Given the description of an element on the screen output the (x, y) to click on. 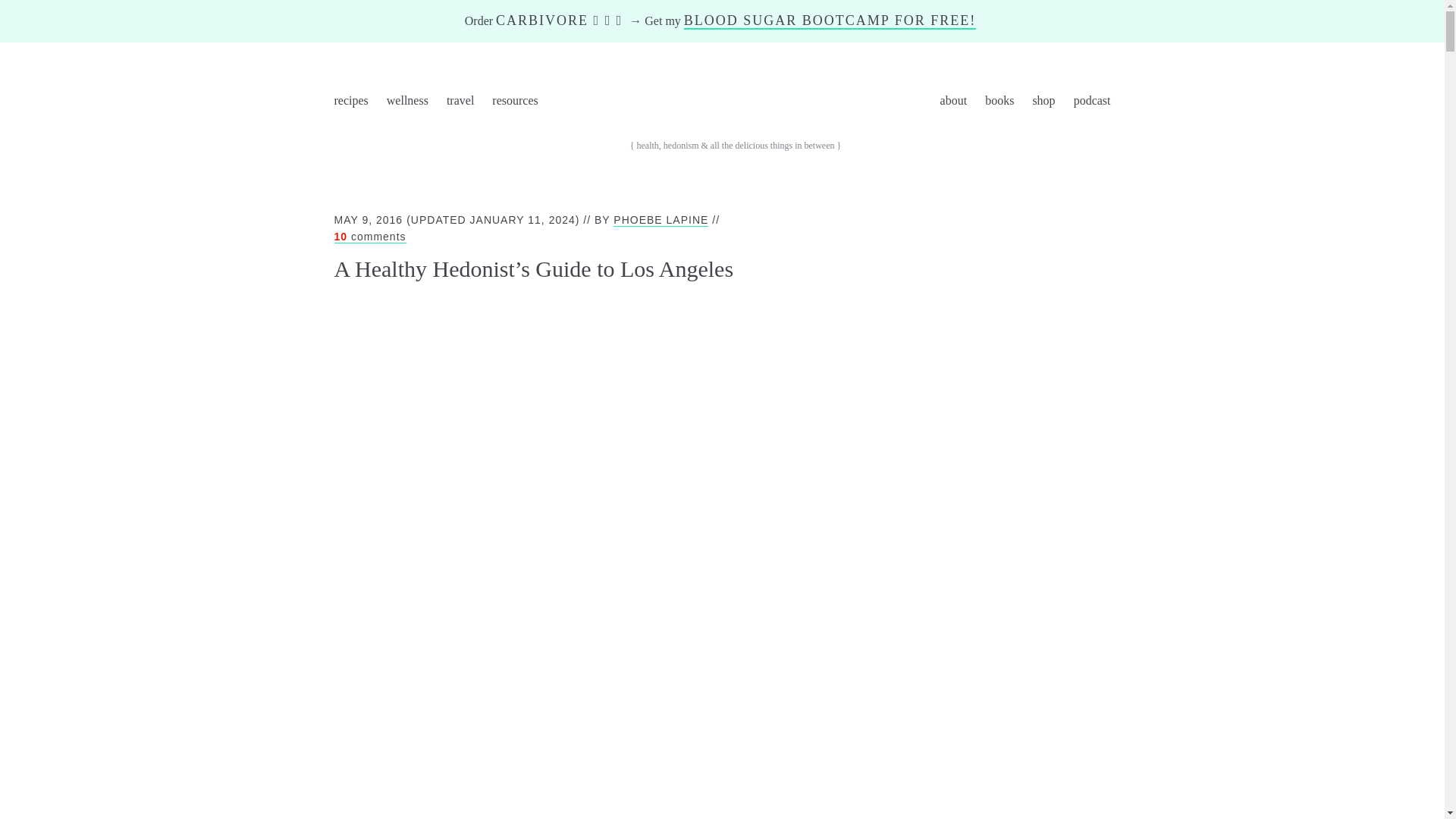
Feed Me Phoebe (738, 101)
travel (459, 103)
BLOOD SUGAR BOOTCAMP FOR FREE! (829, 21)
wellness (407, 103)
shop (1042, 103)
PHOEBE LAPINE (659, 219)
10 comments (369, 236)
recipes (342, 103)
about (953, 103)
podcast (1100, 103)
books (999, 103)
resources (514, 103)
